Given the description of an element on the screen output the (x, y) to click on. 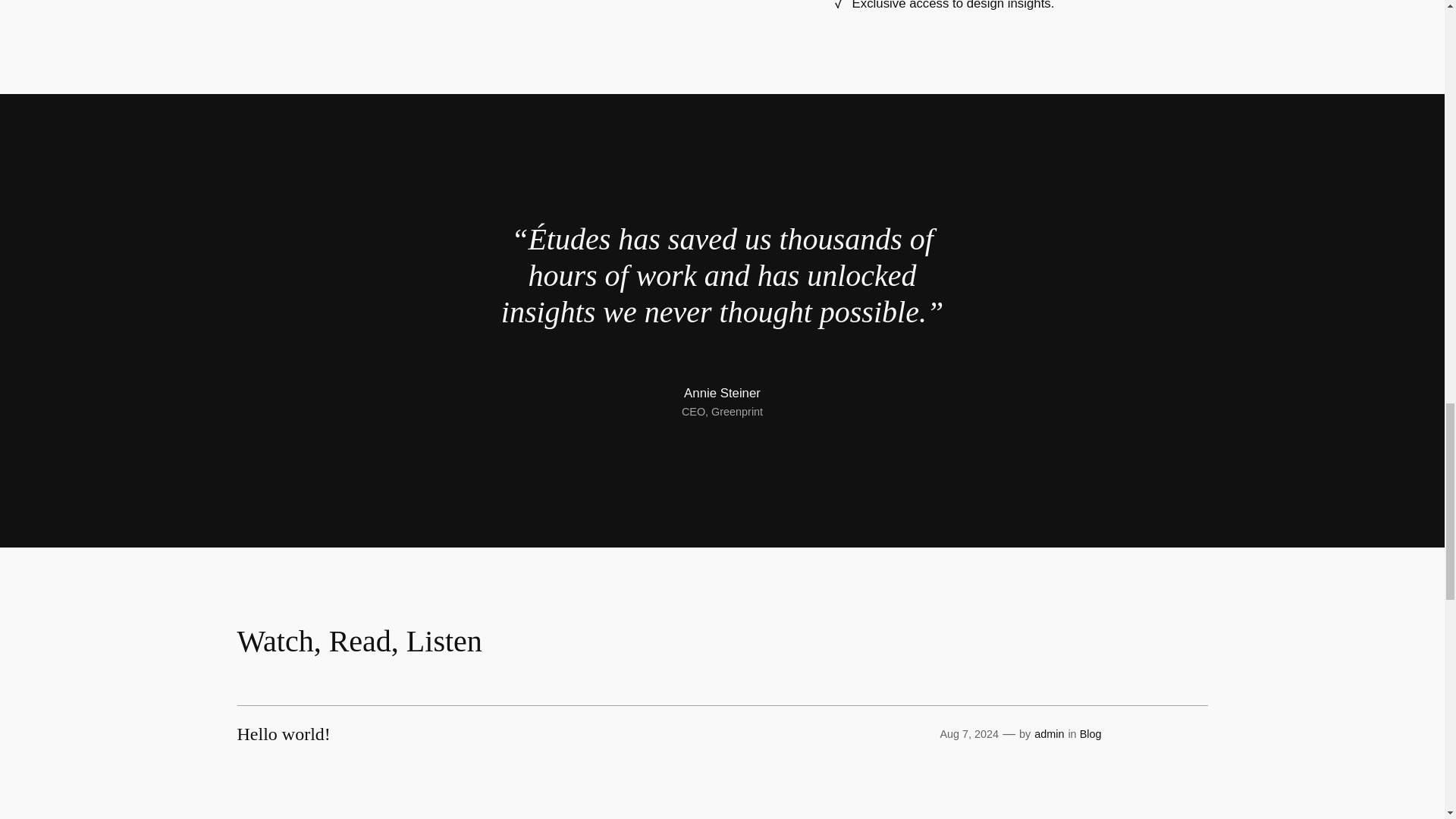
Aug 7, 2024 (968, 734)
Blog (1091, 734)
admin (1048, 734)
Hello world! (282, 733)
